Given the description of an element on the screen output the (x, y) to click on. 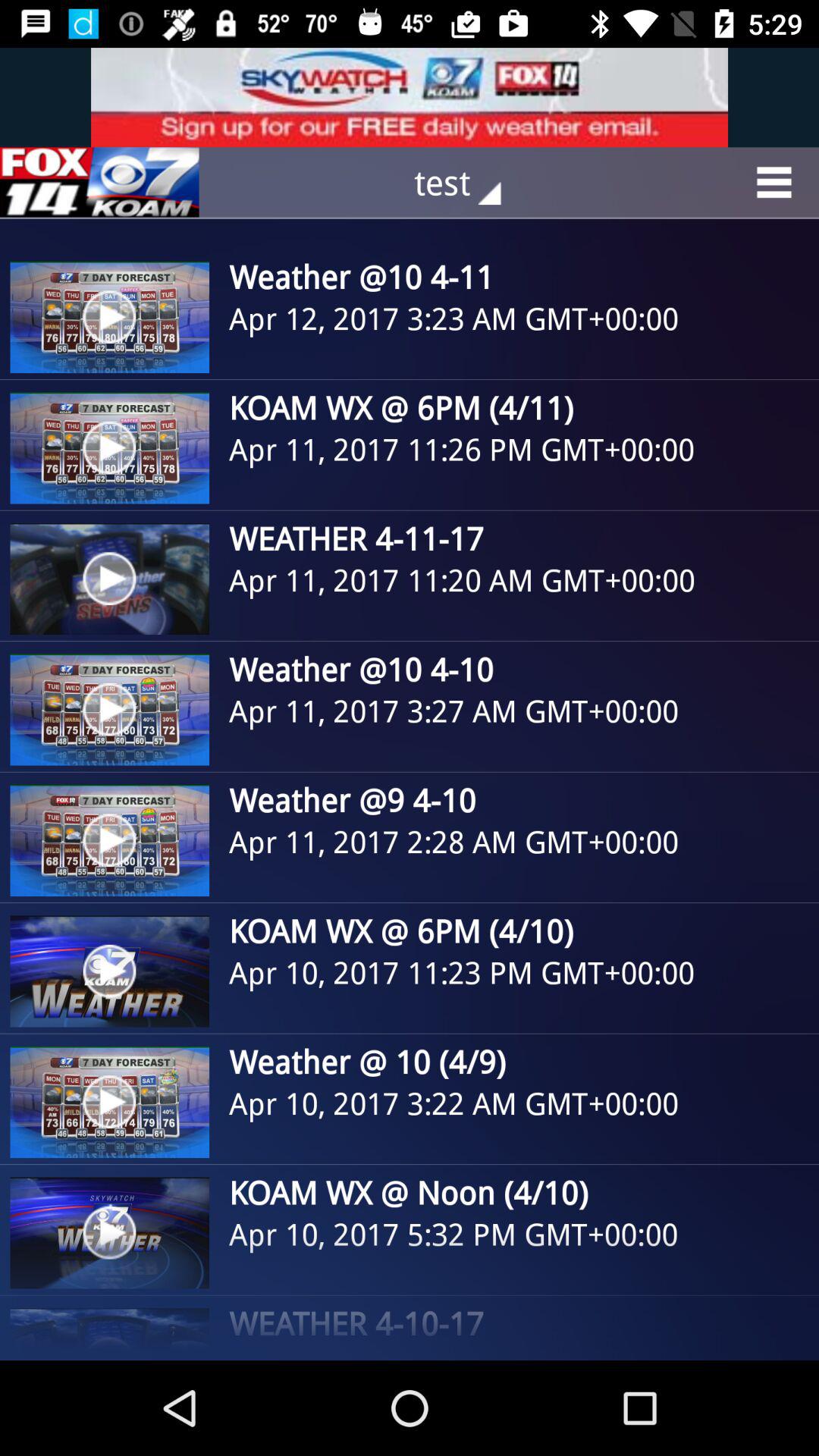
select advertisement (409, 97)
